Given the description of an element on the screen output the (x, y) to click on. 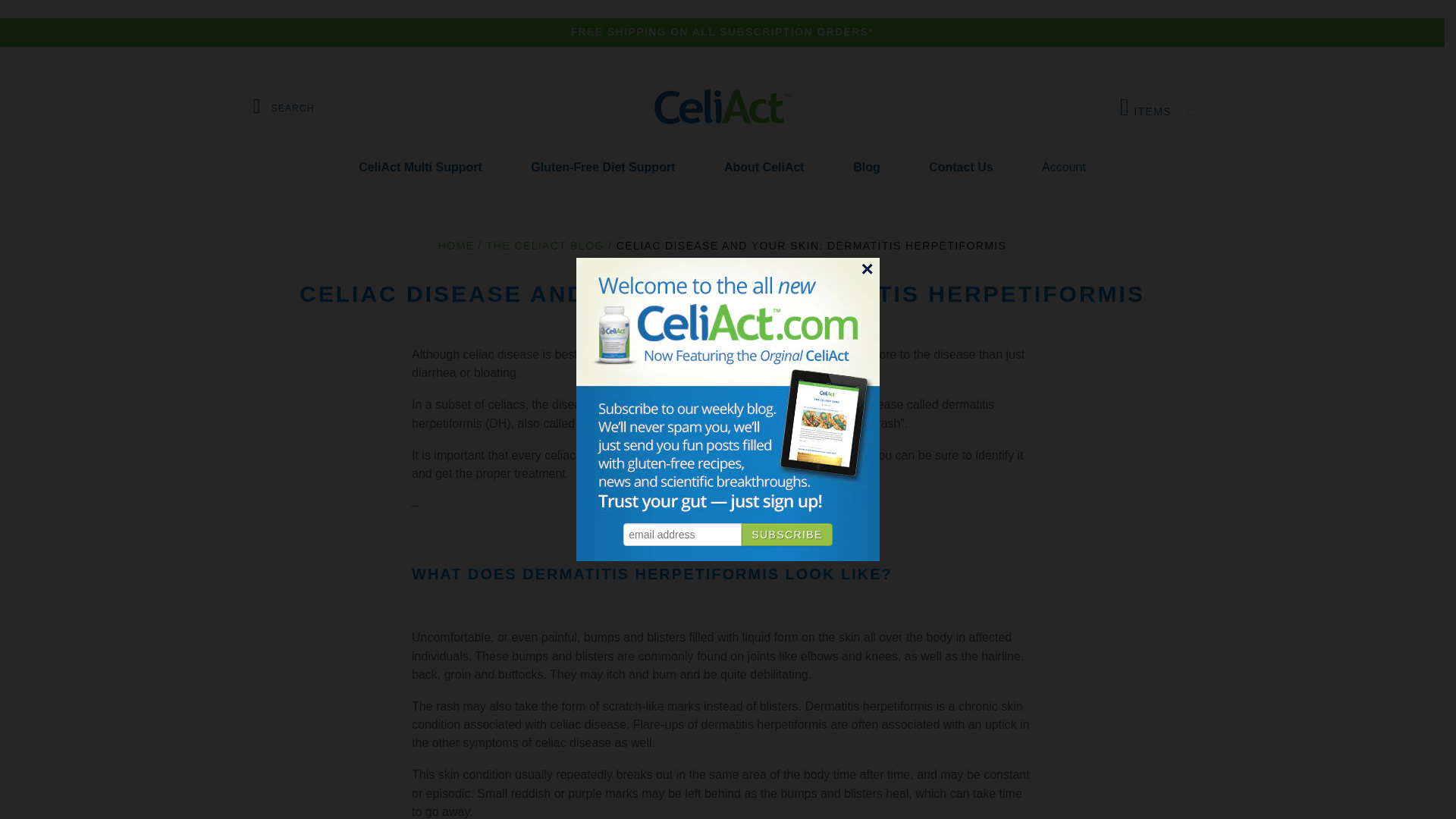
Contact Us (959, 167)
Blog (865, 167)
Gluten-Free Diet Support (602, 167)
CeliAct Multi Support (420, 167)
Subscribe (786, 534)
About CeliAct (1145, 107)
HOME (764, 167)
Account (456, 245)
THE CELIACT BLOG (1063, 167)
Subscribe (545, 245)
